Given the description of an element on the screen output the (x, y) to click on. 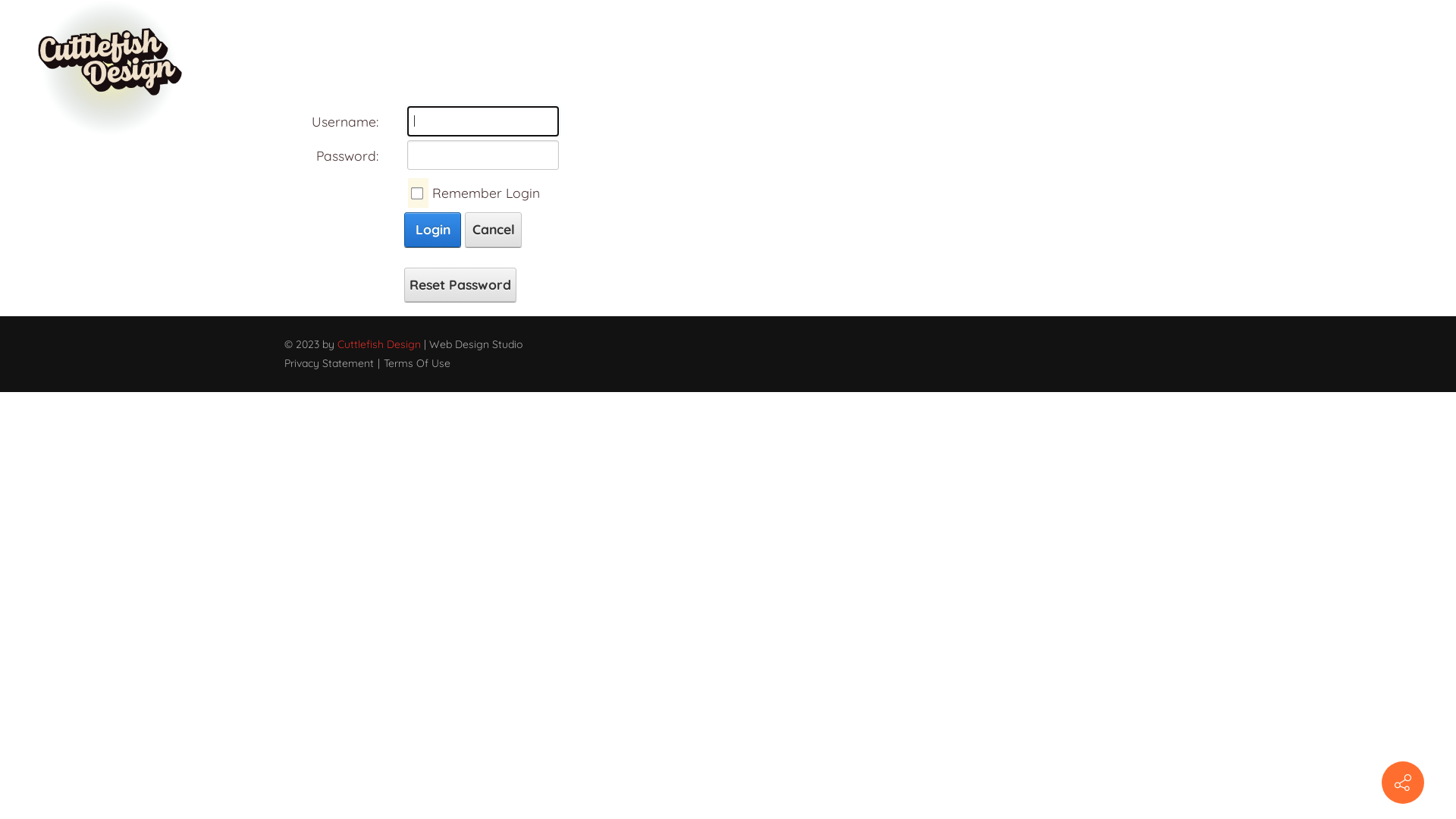
Cuttlefish Design Element type: text (378, 344)
Terms Of Use Element type: text (416, 363)
Home Element type: text (591, 68)
Login Element type: text (432, 229)
Graphic Design Element type: text (903, 68)
Cancel Element type: text (492, 229)
About Element type: text (661, 68)
Contact Element type: text (1010, 68)
Reset Password Element type: text (460, 284)
Website Design Element type: text (766, 68)
Privacy Statement Element type: text (328, 363)
